Given the description of an element on the screen output the (x, y) to click on. 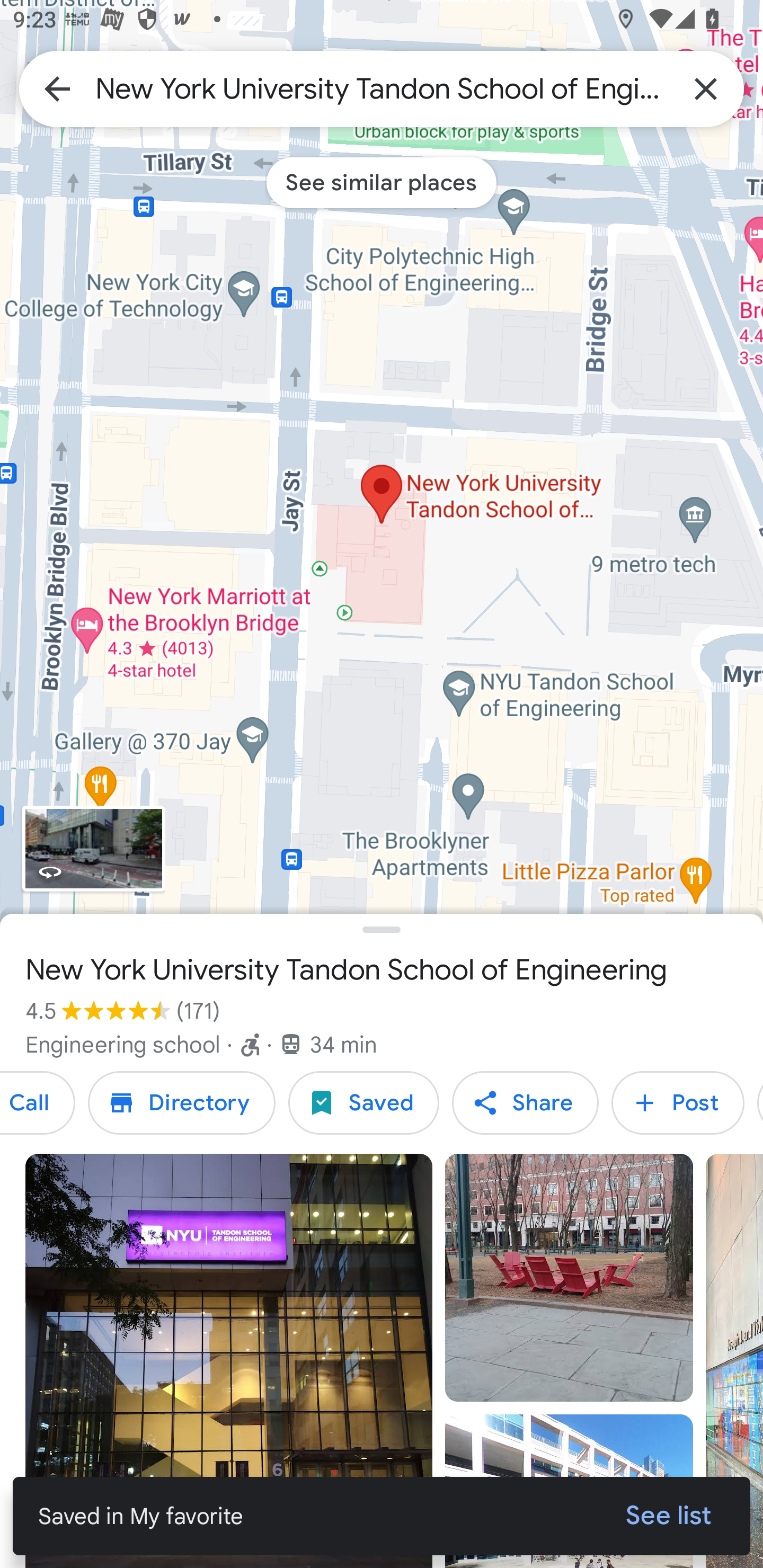
Back (57, 88)
Clear (705, 88)
See similar places (381, 182)
Directory Directory Directory (181, 1102)
Post Post Post (677, 1102)
Photo (228, 1361)
Photo (568, 1277)
See list (668, 1515)
